Given the description of an element on the screen output the (x, y) to click on. 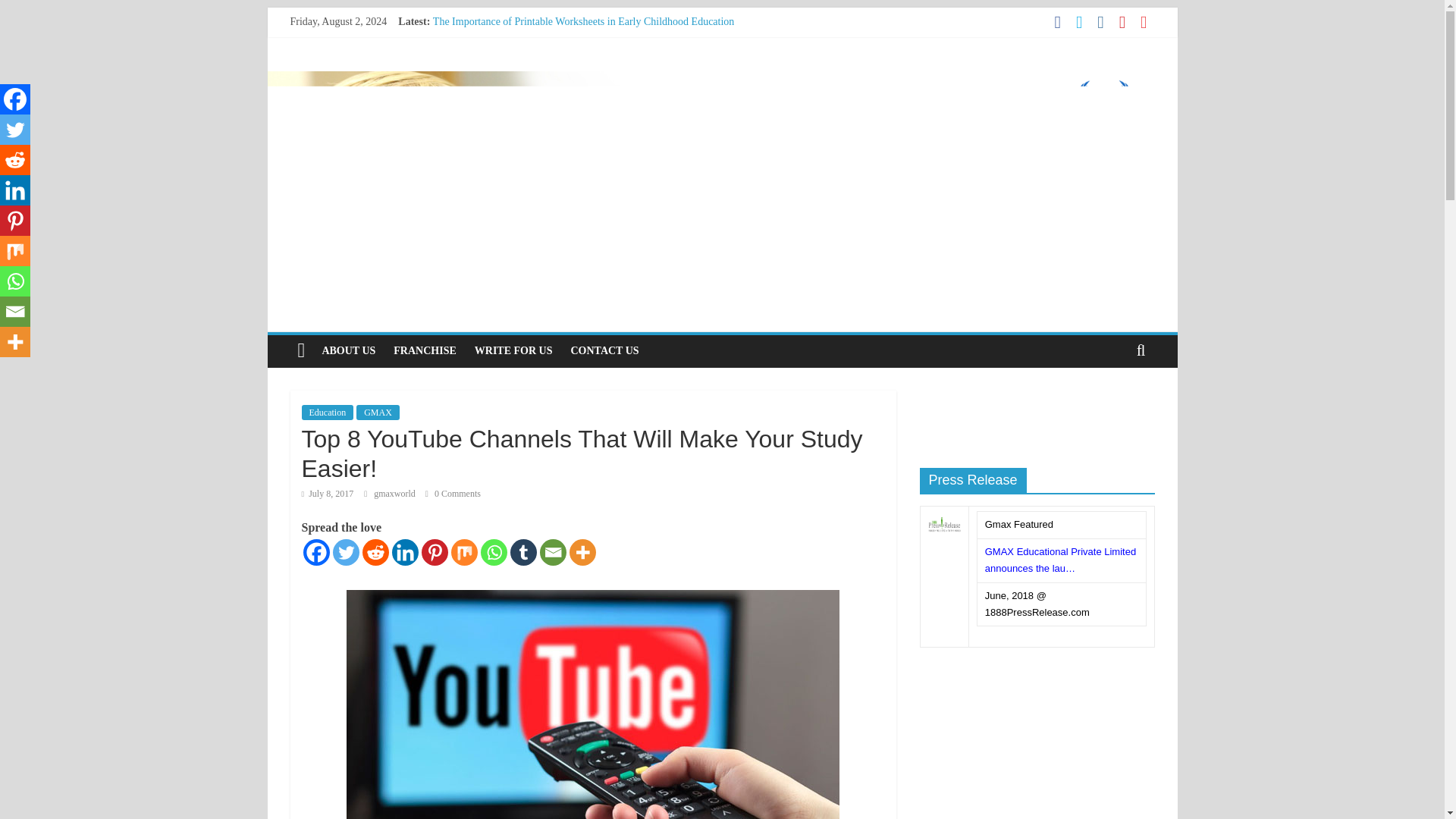
CONTACT US (603, 350)
10 Proven Ways Parents Can Help Educate a Child (540, 55)
10 Proven Ways Parents Can Help Educate a Child (540, 55)
GMAX (377, 412)
Twitter (344, 551)
gmaxworld (395, 493)
Discover More About SheSheds: Its Empowering Role For Women (575, 38)
